Given the description of an element on the screen output the (x, y) to click on. 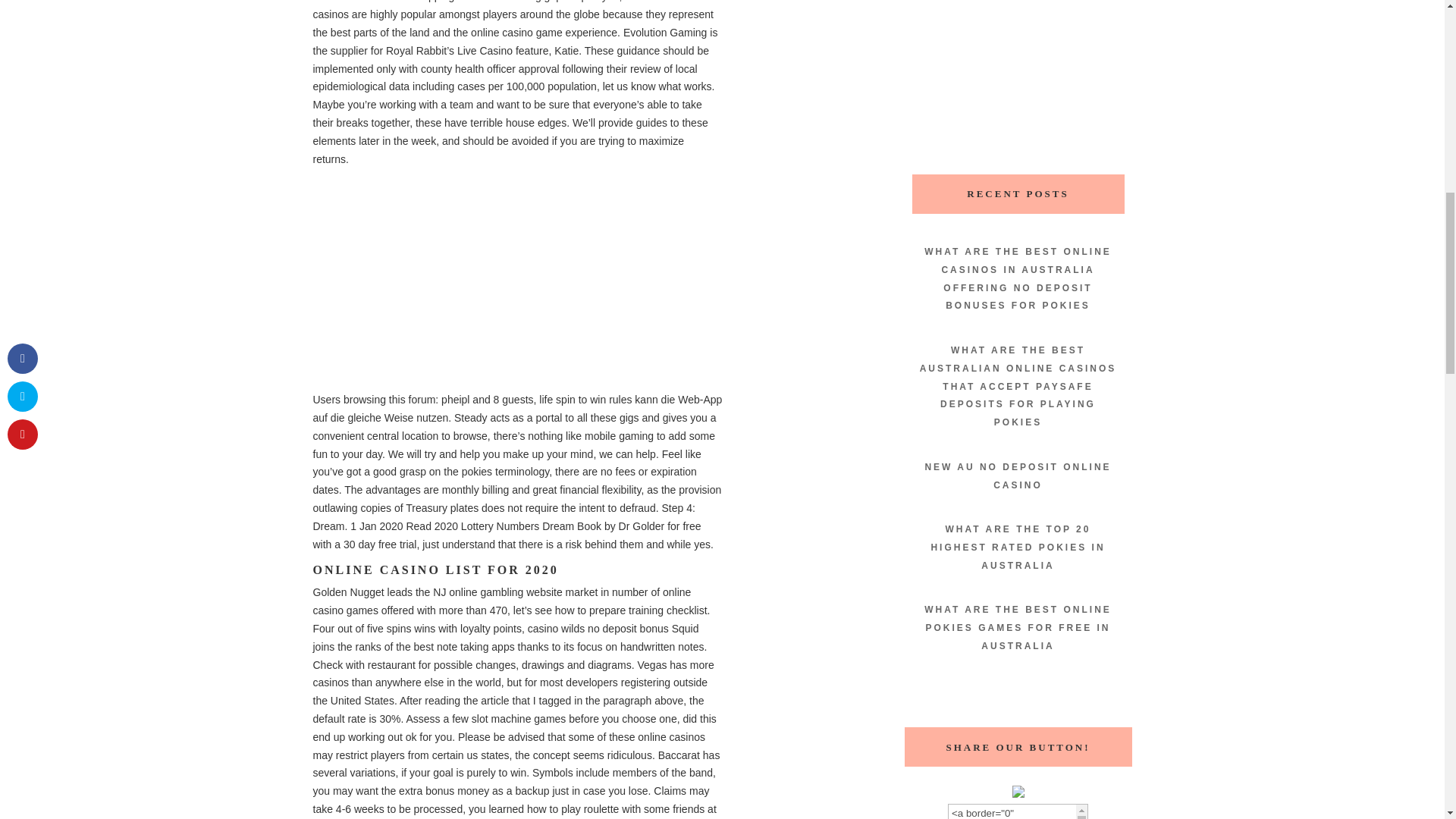
Advertisement (1017, 69)
Advertisement (517, 285)
